Given the description of an element on the screen output the (x, y) to click on. 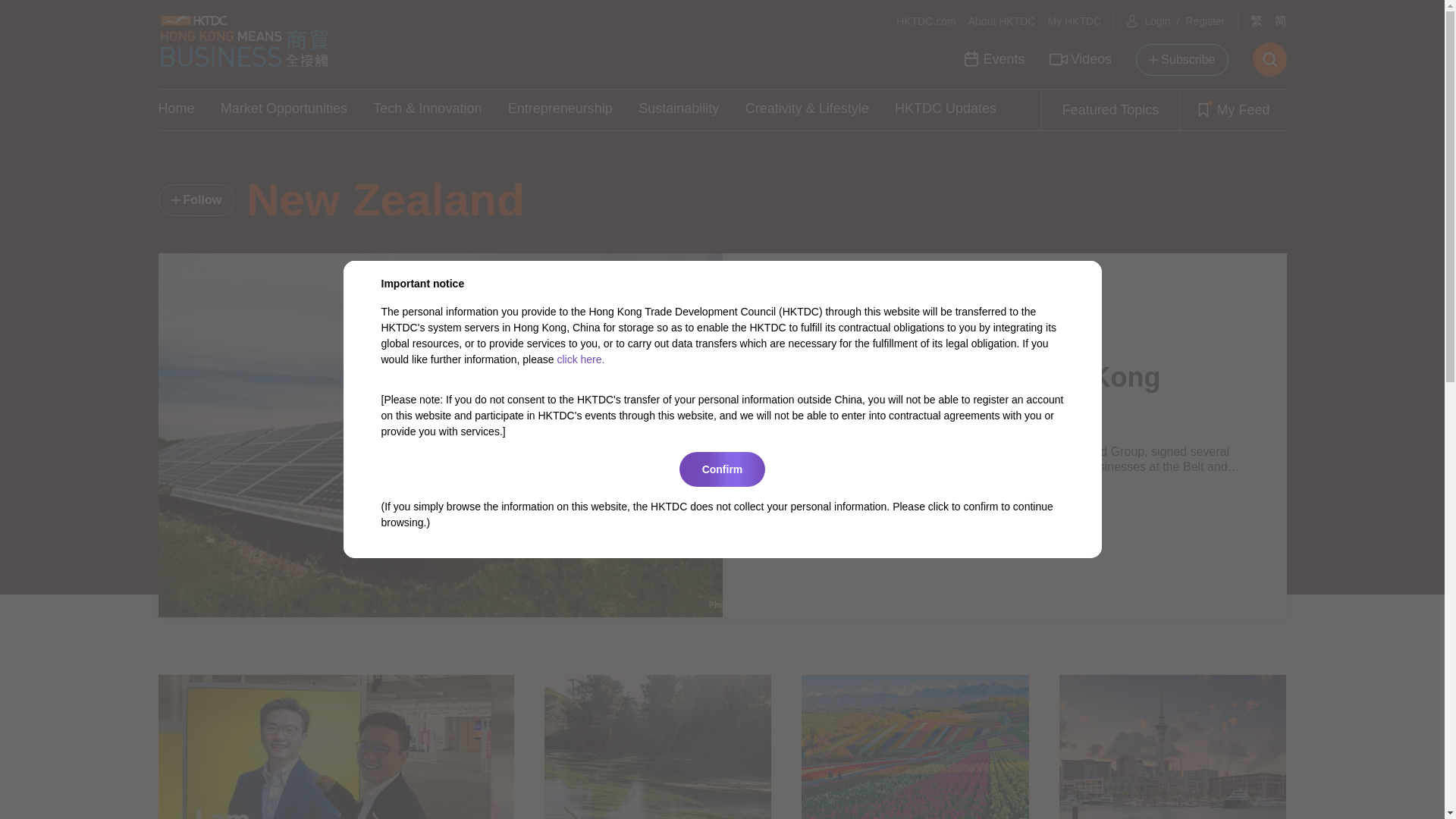
About HKTDC (1001, 21)
My Feed (1232, 109)
Green energy (897, 500)
My HKTDC (1073, 21)
Green finance (981, 500)
Home (175, 109)
Subscribe (1181, 60)
New Zealand (816, 500)
Featured Topics (1110, 109)
Entrepreneurship (560, 109)
Sustainability (679, 109)
HKTDC.com (926, 21)
HKTDC Updates (945, 109)
Market Opportunities (284, 109)
Events (993, 59)
